Given the description of an element on the screen output the (x, y) to click on. 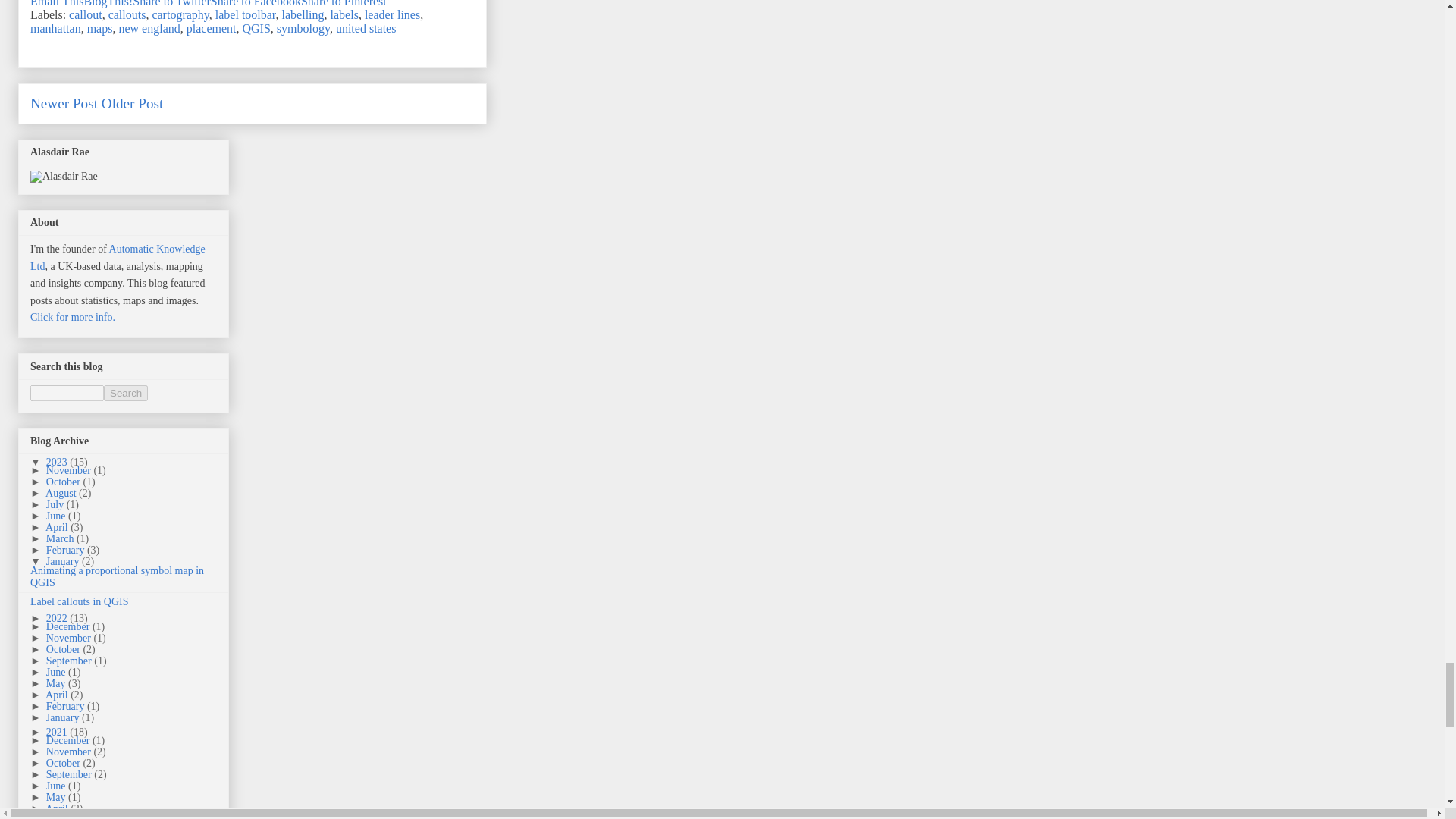
BlogThis! (107, 3)
search (66, 392)
Older Post (132, 103)
maps (100, 28)
cartography (179, 14)
BlogThis! (107, 3)
labels (344, 14)
Email This (56, 3)
Search (125, 392)
new england (148, 28)
leader lines (392, 14)
Newer Post (63, 103)
placement (210, 28)
manhattan (55, 28)
Share to Facebook (256, 3)
